Given the description of an element on the screen output the (x, y) to click on. 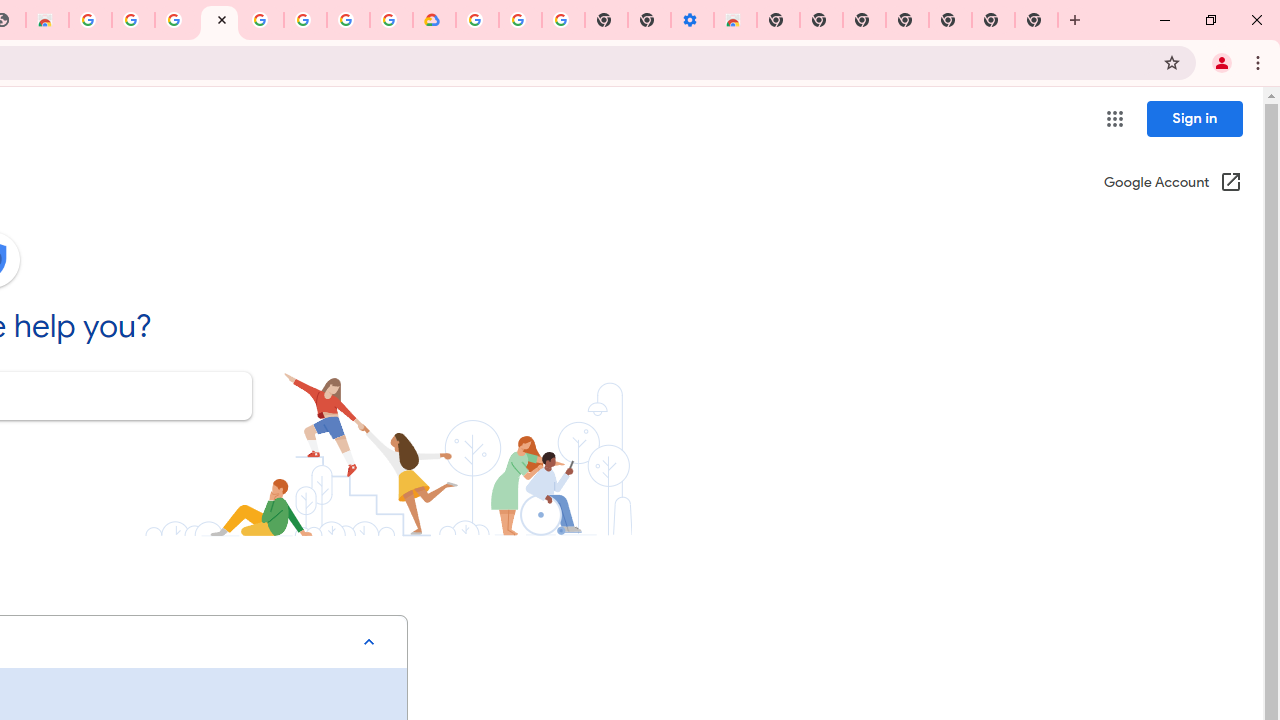
Sign in - Google Accounts (176, 20)
New Tab (777, 20)
Settings - Accessibility (692, 20)
Sign in - Google Accounts (347, 20)
Google Account Help (520, 20)
Google Account Help (219, 20)
